Given the description of an element on the screen output the (x, y) to click on. 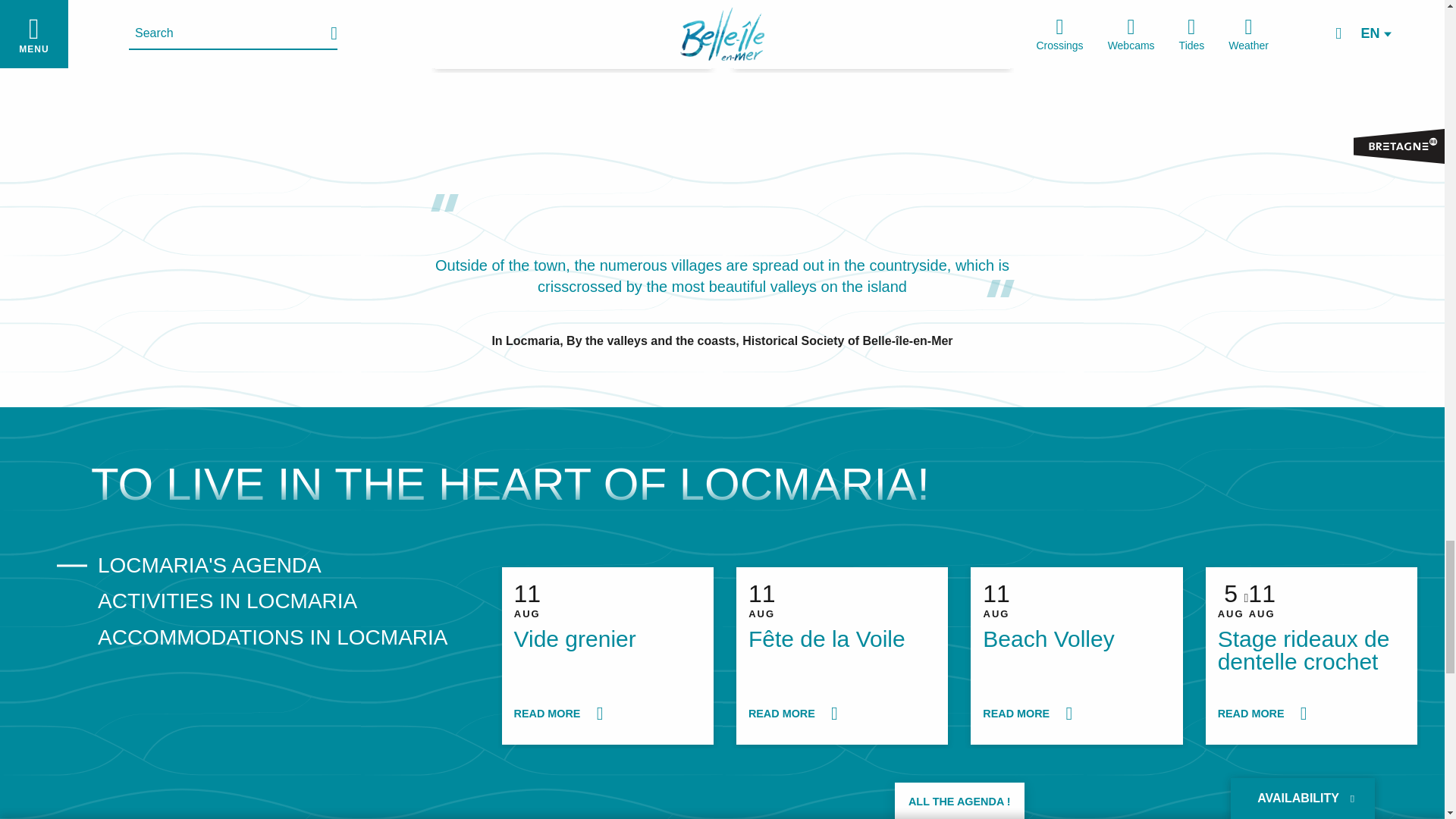
ALL THE AGENDA ! (960, 800)
ACTIVITIES IN LOCMARIA (607, 655)
ACCOMMODATIONS IN LOCMARIA (283, 601)
LOCMARIA'S AGENDA (1076, 655)
